Given the description of an element on the screen output the (x, y) to click on. 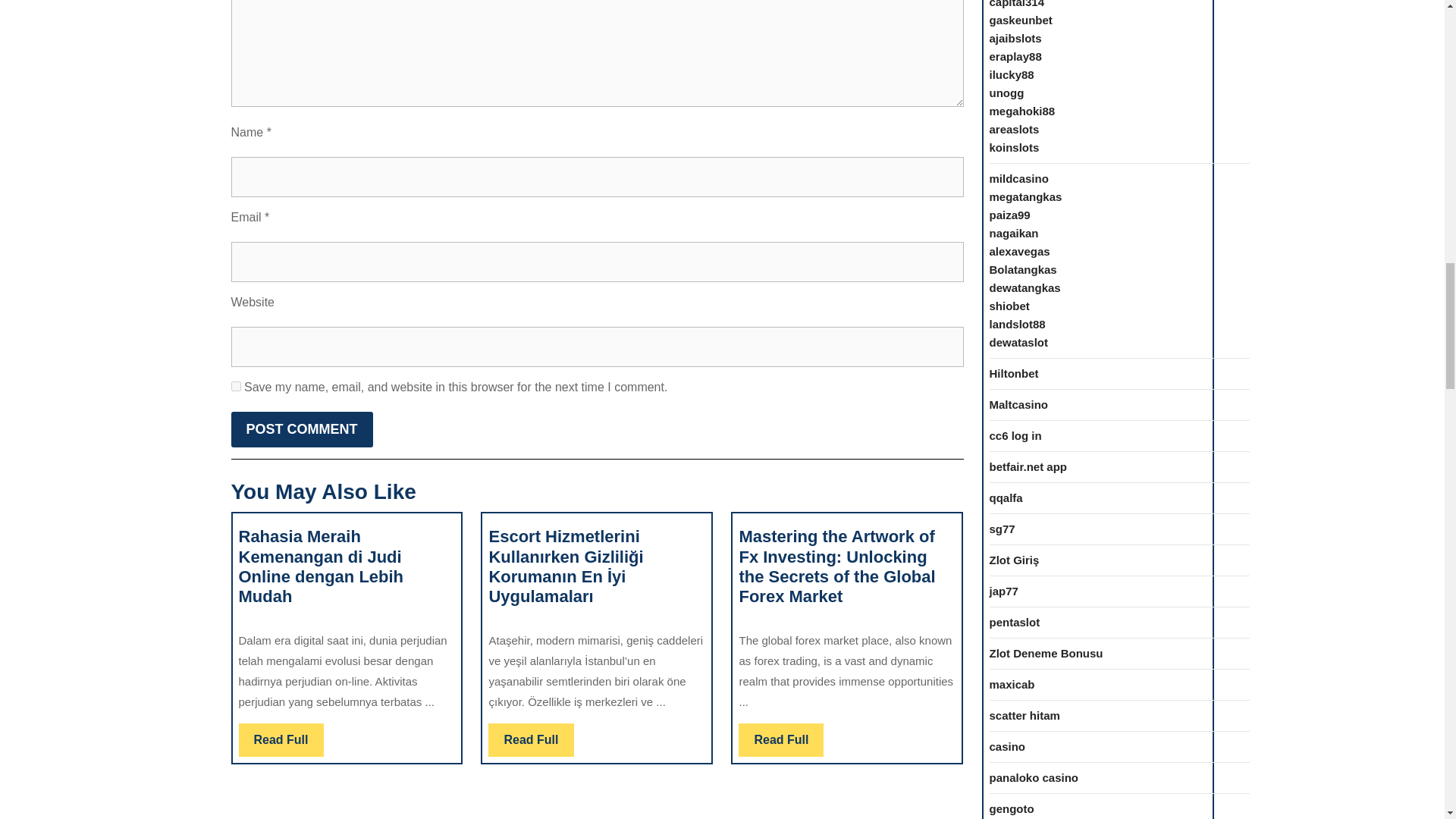
Post Comment (301, 429)
Post Comment (301, 429)
yes (781, 739)
